Given the description of an element on the screen output the (x, y) to click on. 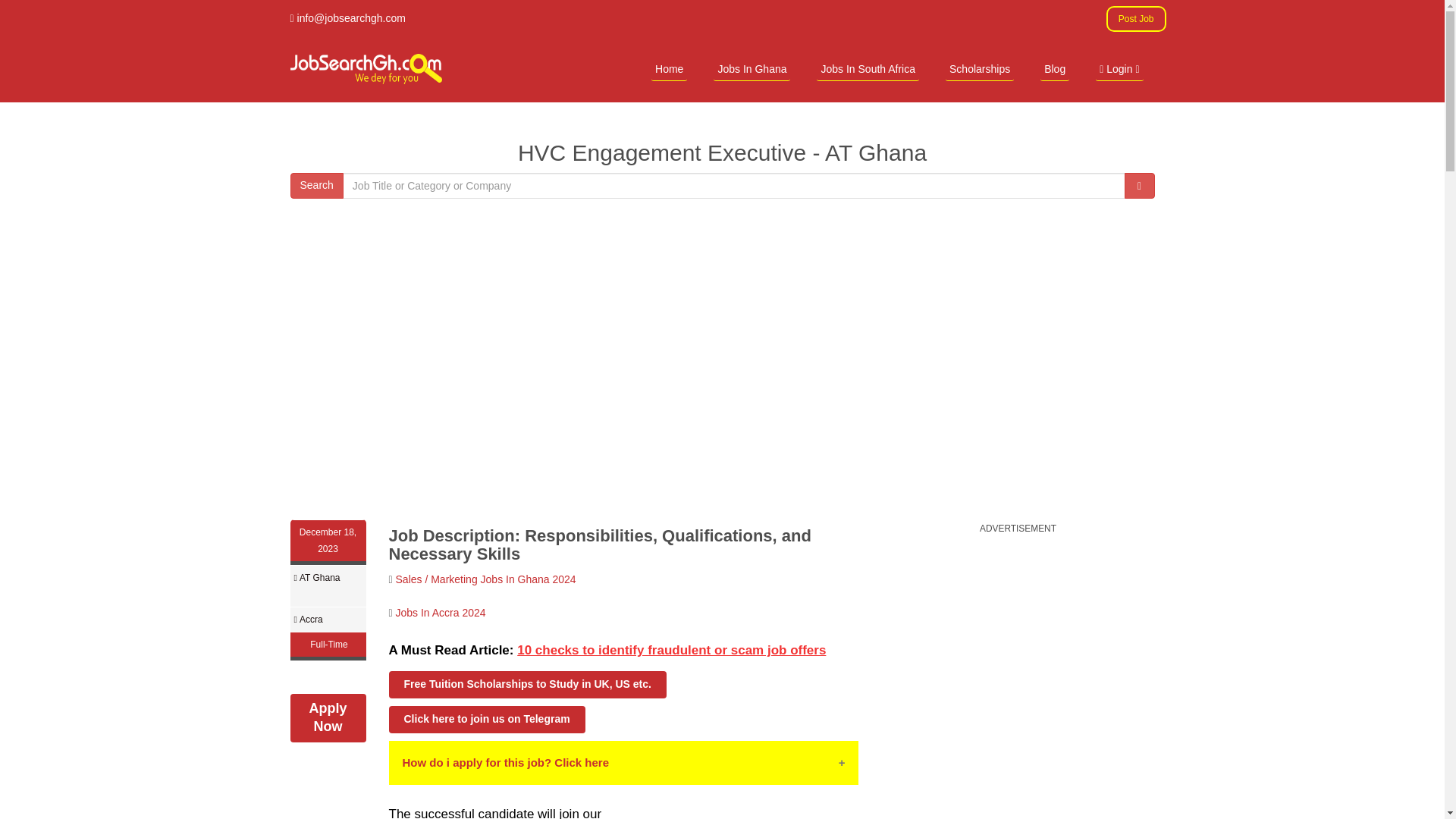
Blog (1054, 69)
Jobs In Ghana (751, 69)
Jobs In South Africa (867, 69)
Post Job (1136, 18)
How do i apply for this job? Click here (623, 762)
Scholarships (978, 69)
Post Job (1136, 18)
Current Jobs In Ghana (751, 69)
Free Tuition Scholarships to Study in UK, US etc. (526, 684)
Login (1119, 69)
10 checks to identify fraudulent or scam job offers (670, 649)
Click here to join us on Telegram (486, 719)
Jobs In South Africa (867, 69)
scholarships for african students (978, 69)
